Given the description of an element on the screen output the (x, y) to click on. 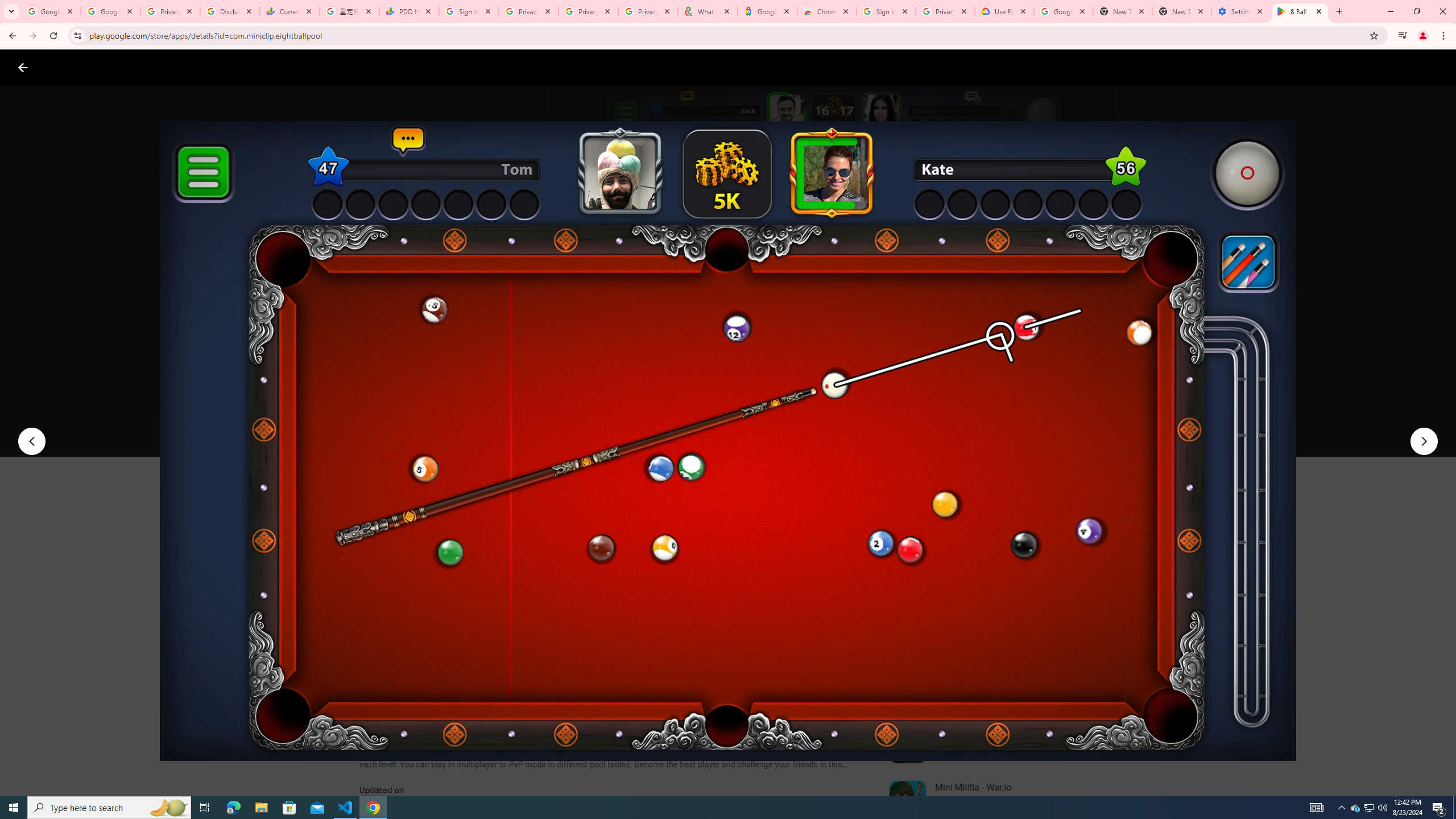
Privacy Checkup (588, 11)
Scroll Next (848, 563)
Add to wishlist (576, 422)
